Given the description of an element on the screen output the (x, y) to click on. 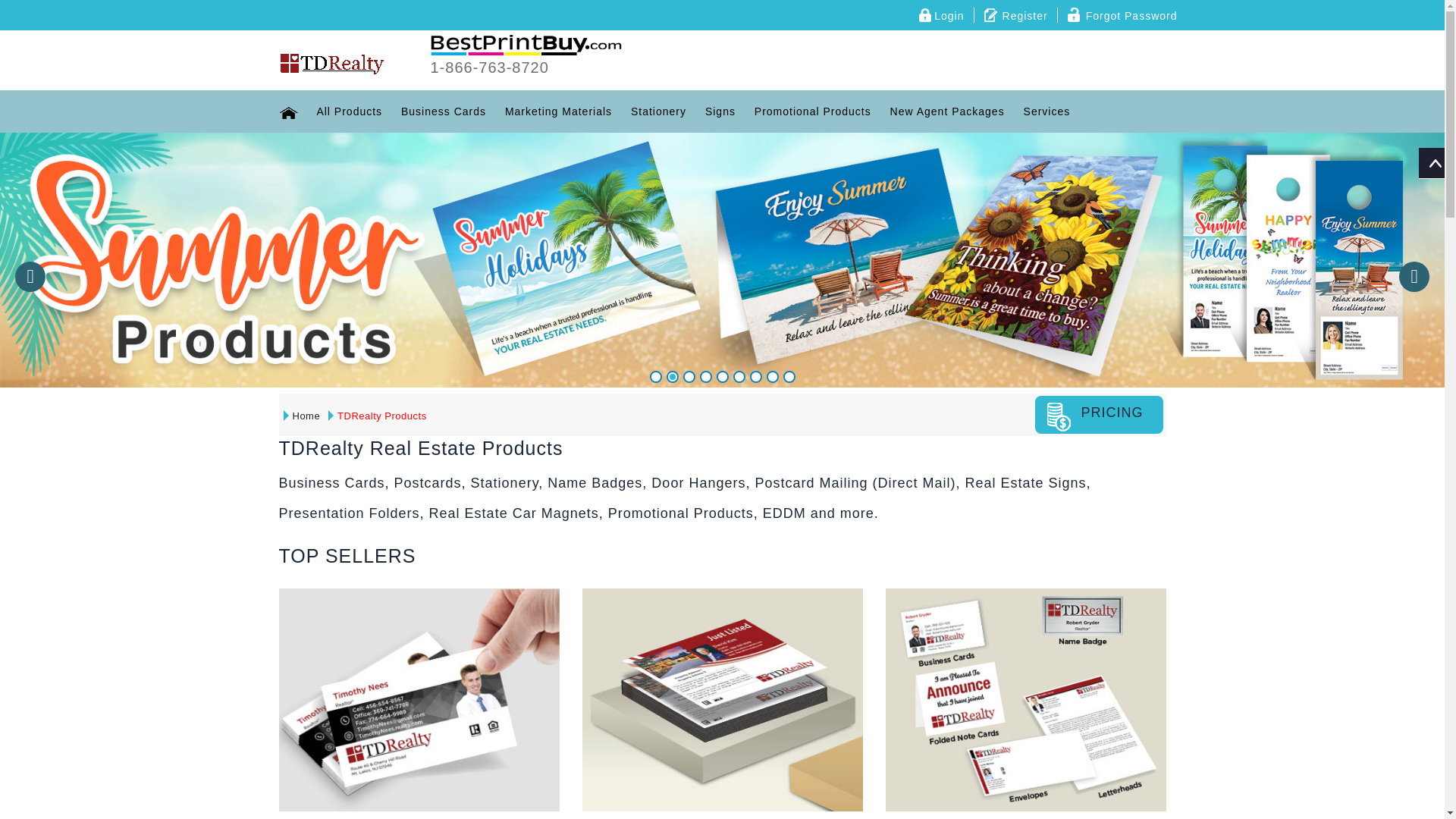
Services (1047, 111)
All Products (349, 111)
Login (939, 15)
1-866-763-8720 (489, 68)
Signs (719, 111)
New Agent Packages (946, 111)
Stationery (658, 111)
Register (1016, 15)
Forgot Password (1122, 15)
Forgot Password (1122, 15)
Pricing (1098, 414)
All Products (349, 111)
Marketing Materials (558, 111)
Register (1016, 15)
Promotional Products (812, 111)
